Given the description of an element on the screen output the (x, y) to click on. 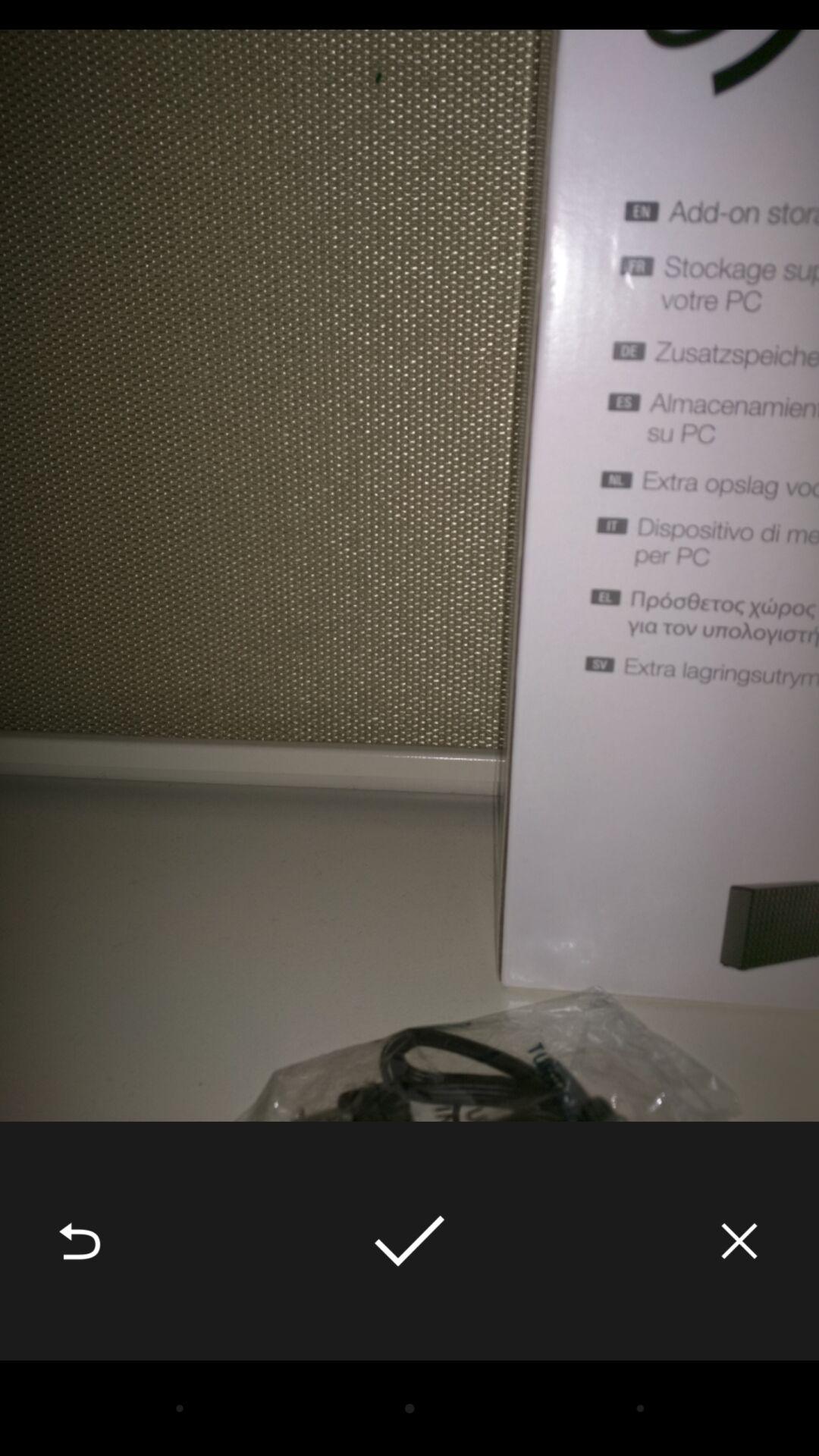
press the icon at the bottom right corner (739, 1240)
